Given the description of an element on the screen output the (x, y) to click on. 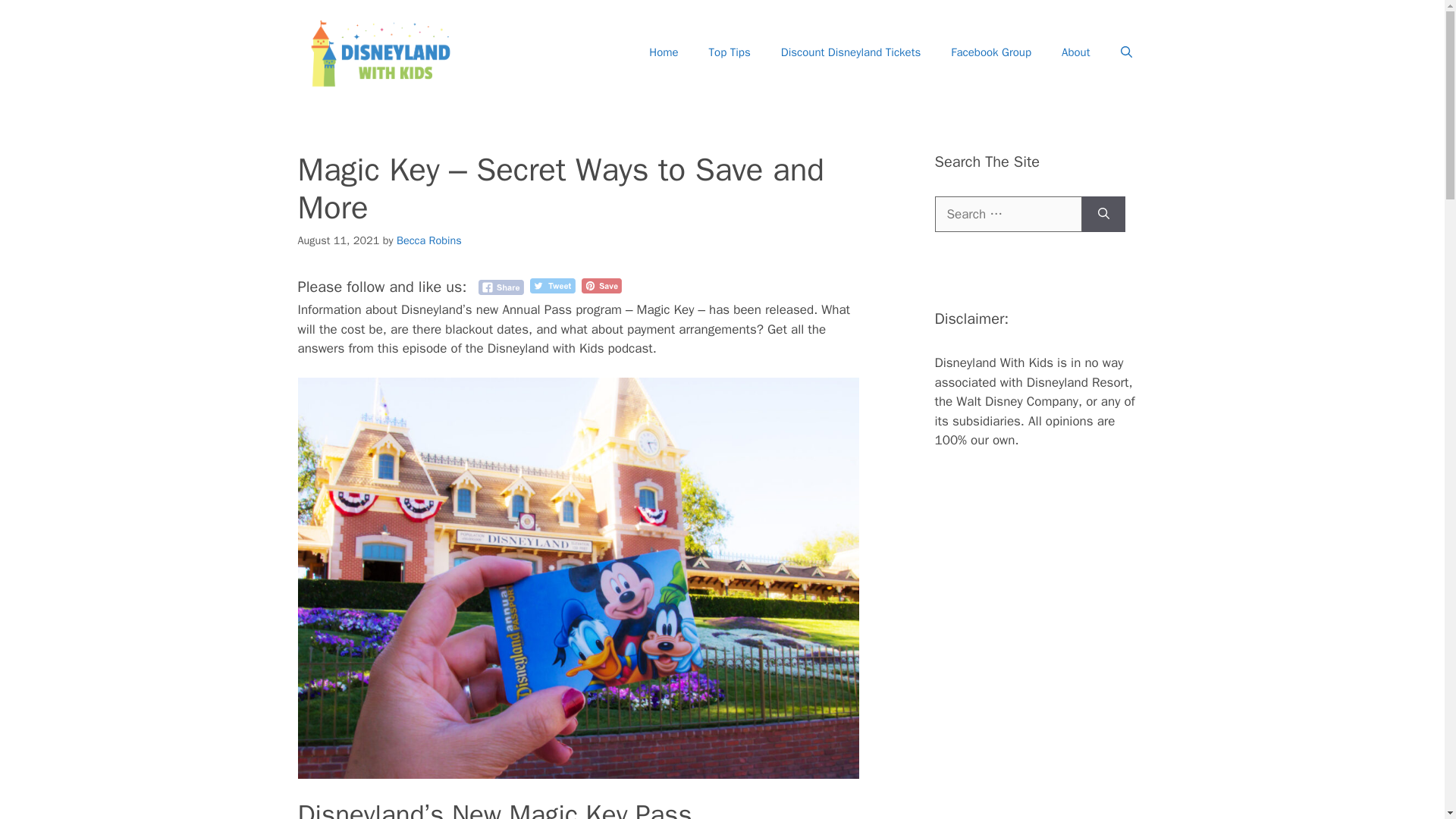
Disneyland With Kids (380, 51)
About (1075, 52)
Home (663, 52)
Facebook Share (500, 287)
Discount Disneyland Tickets (850, 52)
Tweet (552, 285)
Facebook Group (991, 52)
Becca Robins (428, 240)
Pin Share (600, 285)
Disneyland With Kids (380, 52)
